Given the description of an element on the screen output the (x, y) to click on. 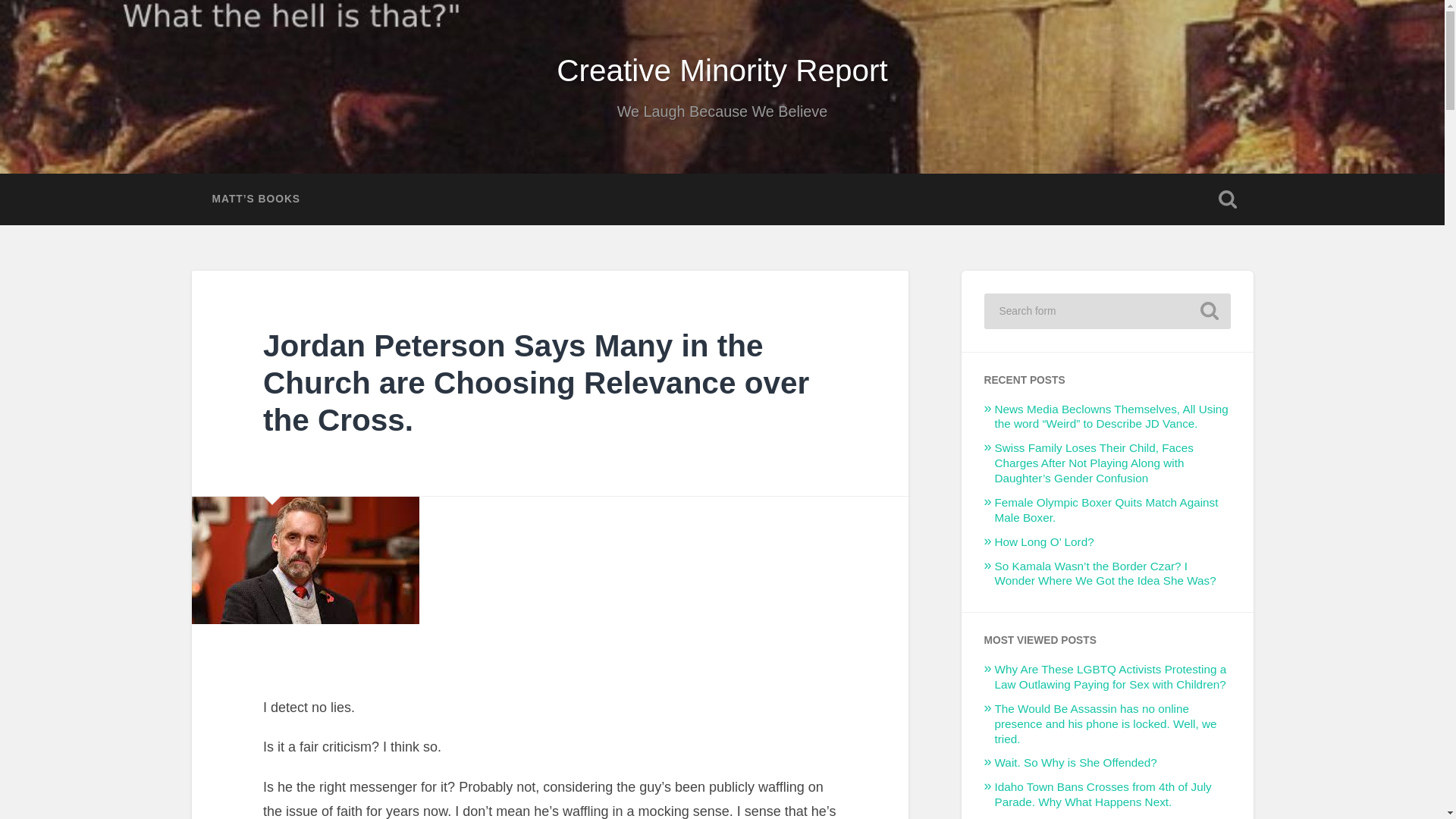
Search (1209, 310)
Female Olympic Boxer Quits Match Against Male Boxer. (1106, 510)
Creative Minority Report (722, 70)
Search (1209, 310)
Search (1209, 310)
